Given the description of an element on the screen output the (x, y) to click on. 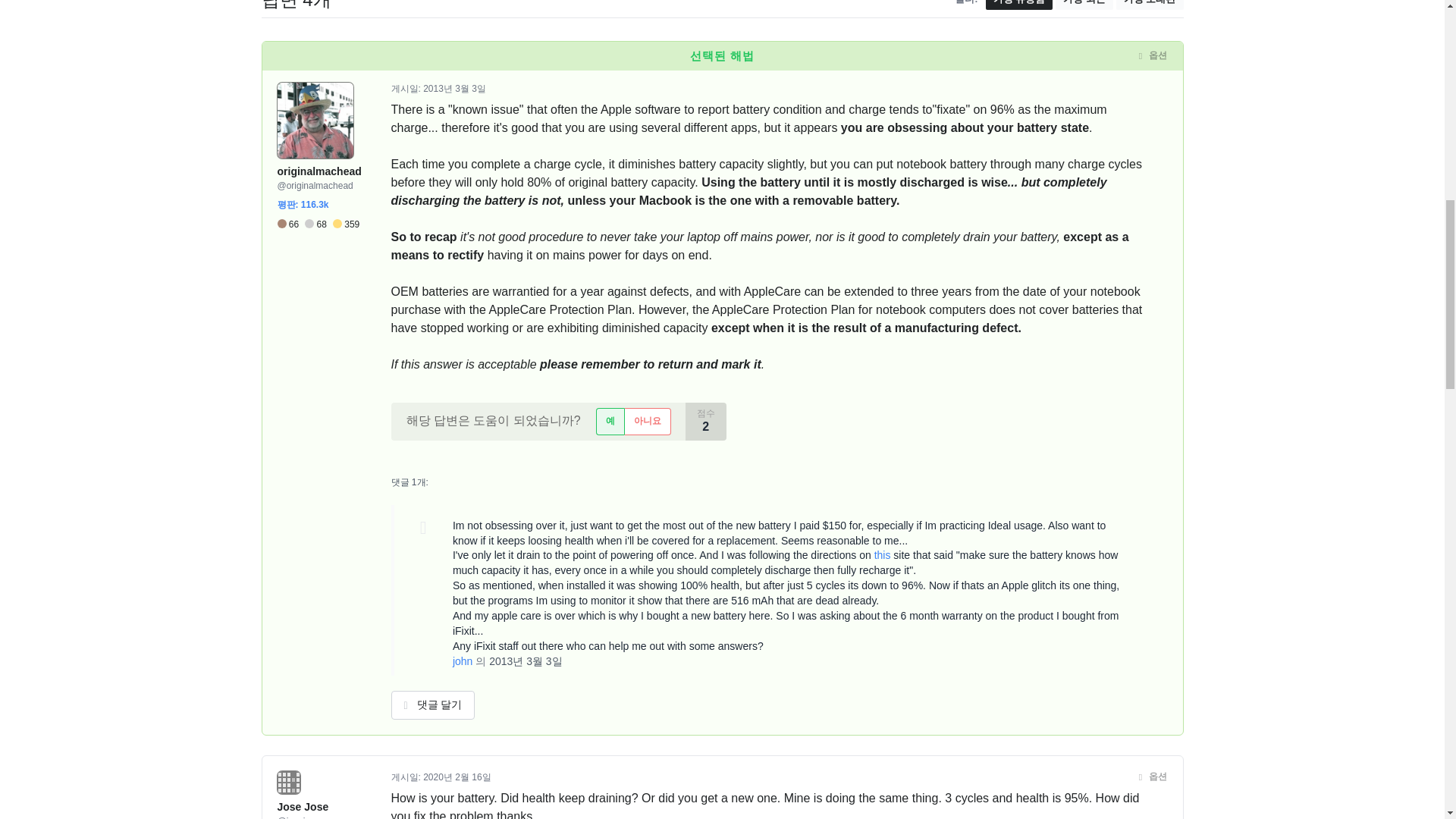
Sun, 03 Mar 2013 19:46:02 -0700 (525, 661)
Sun, 03 Mar 2013 18:28:12 -0700 (454, 88)
Sun, 16 Feb 2020 09:46:30 -0700 (456, 777)
